Given the description of an element on the screen output the (x, y) to click on. 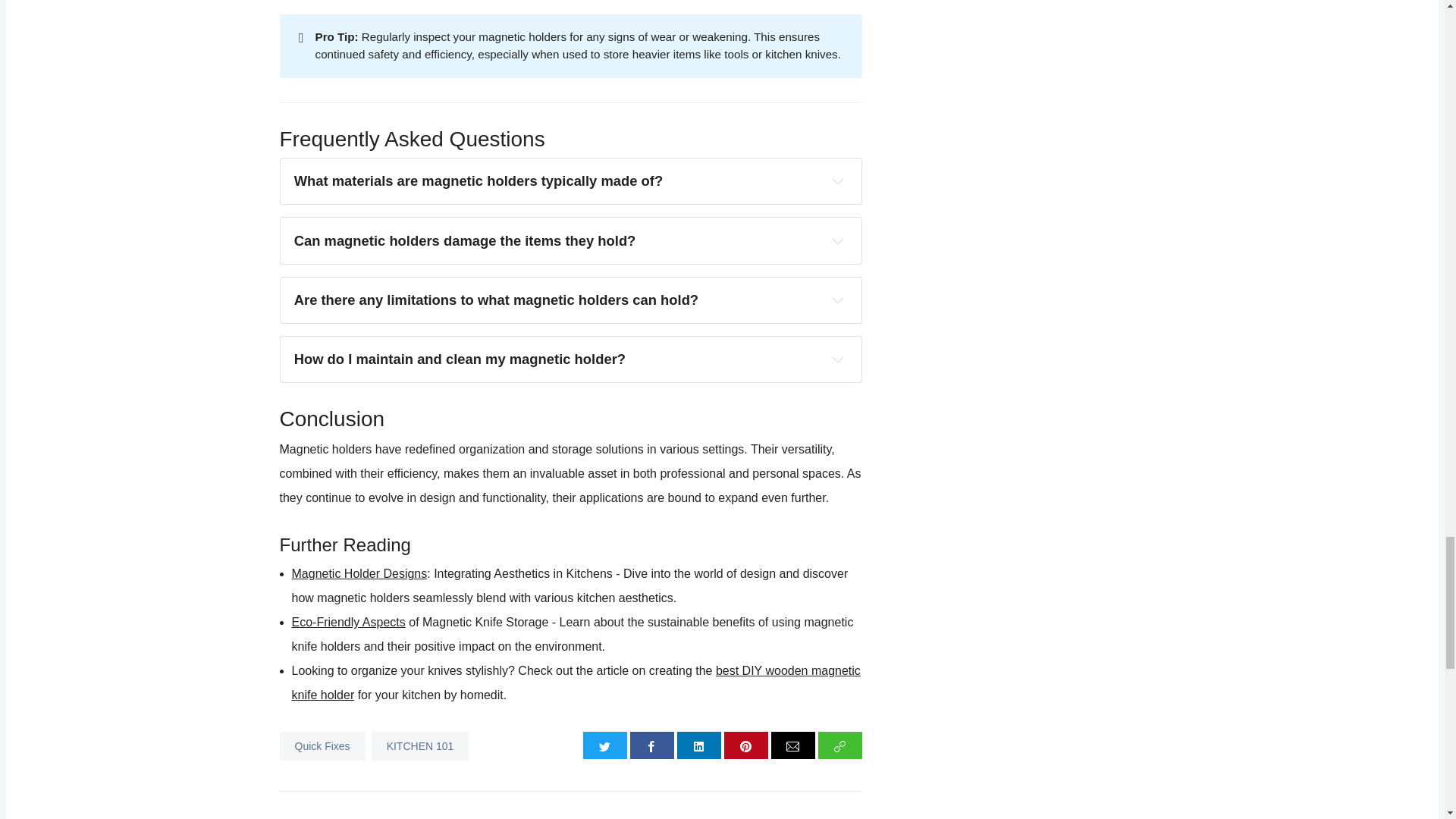
Share on LinkedIn (698, 745)
Share on Twitter (605, 745)
Magnetic Holder Designs (358, 573)
Share via Email (793, 745)
Share on Pinterest (745, 745)
best DIY wooden magnetic knife holder (575, 682)
Eco-Friendly Aspects (347, 621)
Copy link (839, 745)
Share on Facebook (652, 745)
Quick Fixes (322, 746)
